Given the description of an element on the screen output the (x, y) to click on. 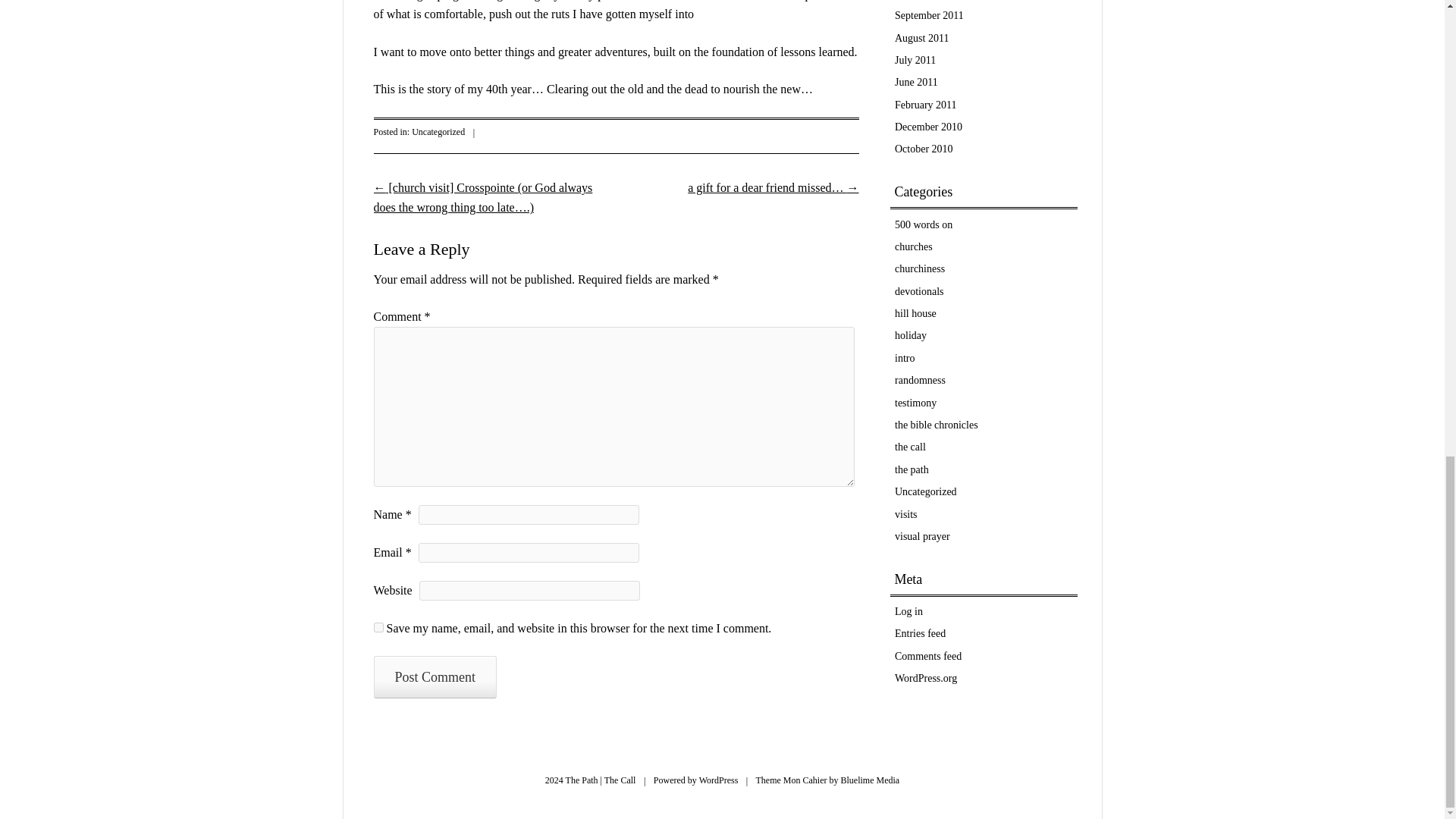
Post Comment (434, 677)
yes (377, 627)
Uncategorized (438, 131)
Semantic Personal Publishing Platform (718, 779)
Post Comment (434, 677)
Bluelime Media (870, 779)
